Given the description of an element on the screen output the (x, y) to click on. 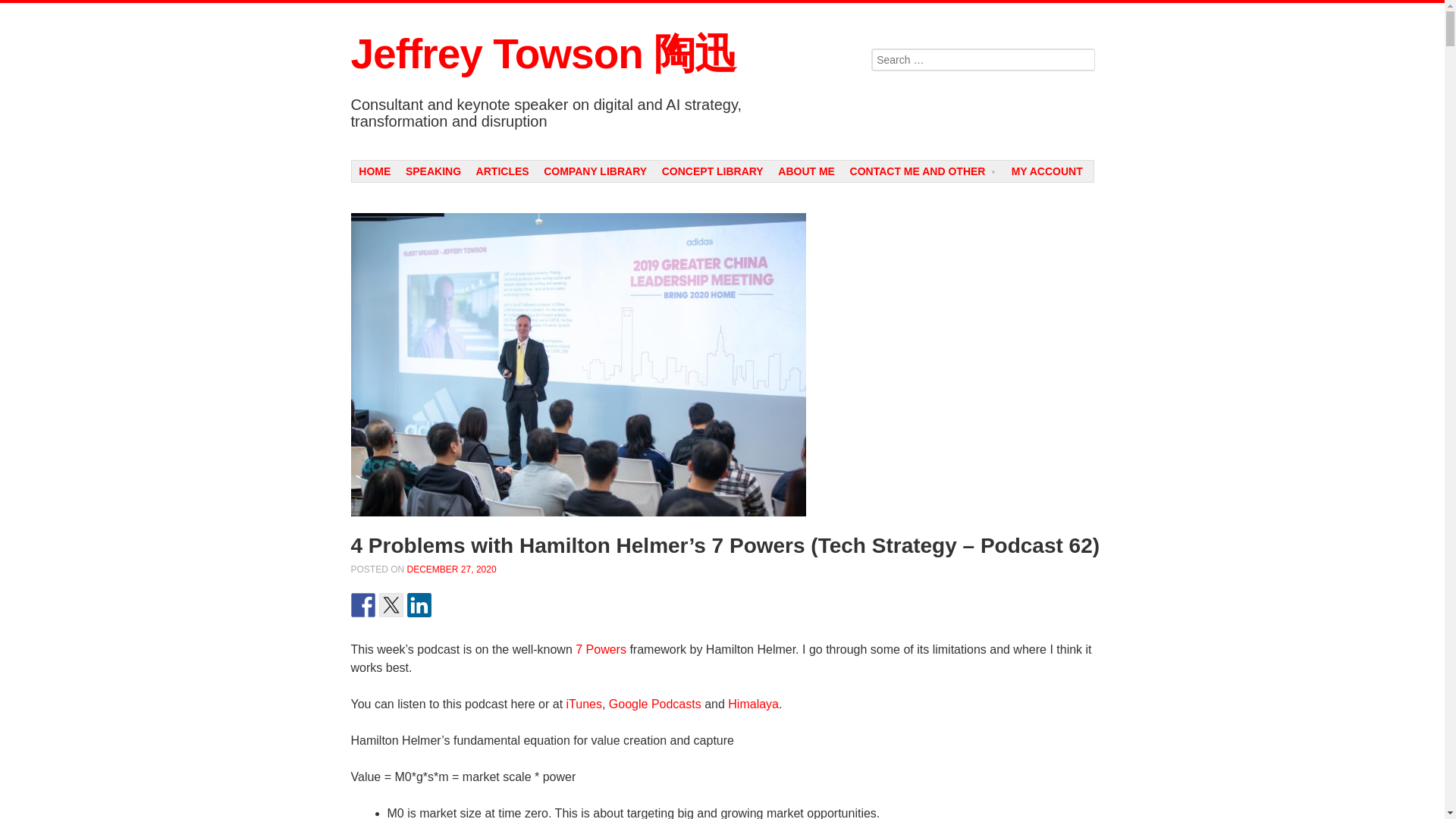
Search (22, 9)
ABOUT ME (805, 170)
6:13 pm (451, 569)
MY ACCOUNT (1047, 170)
Share on Linkedin (418, 604)
HOME (375, 170)
Share on Twitter (390, 604)
ARTICLES (502, 170)
CONTACT ME AND OTHER (923, 170)
CONCEPT LIBRARY (712, 170)
COMPANY LIBRARY (594, 170)
Share on Facebook (362, 604)
DECEMBER 27, 2020 (451, 569)
SKIP TO CONTENT (405, 169)
SPEAKING (432, 170)
